Given the description of an element on the screen output the (x, y) to click on. 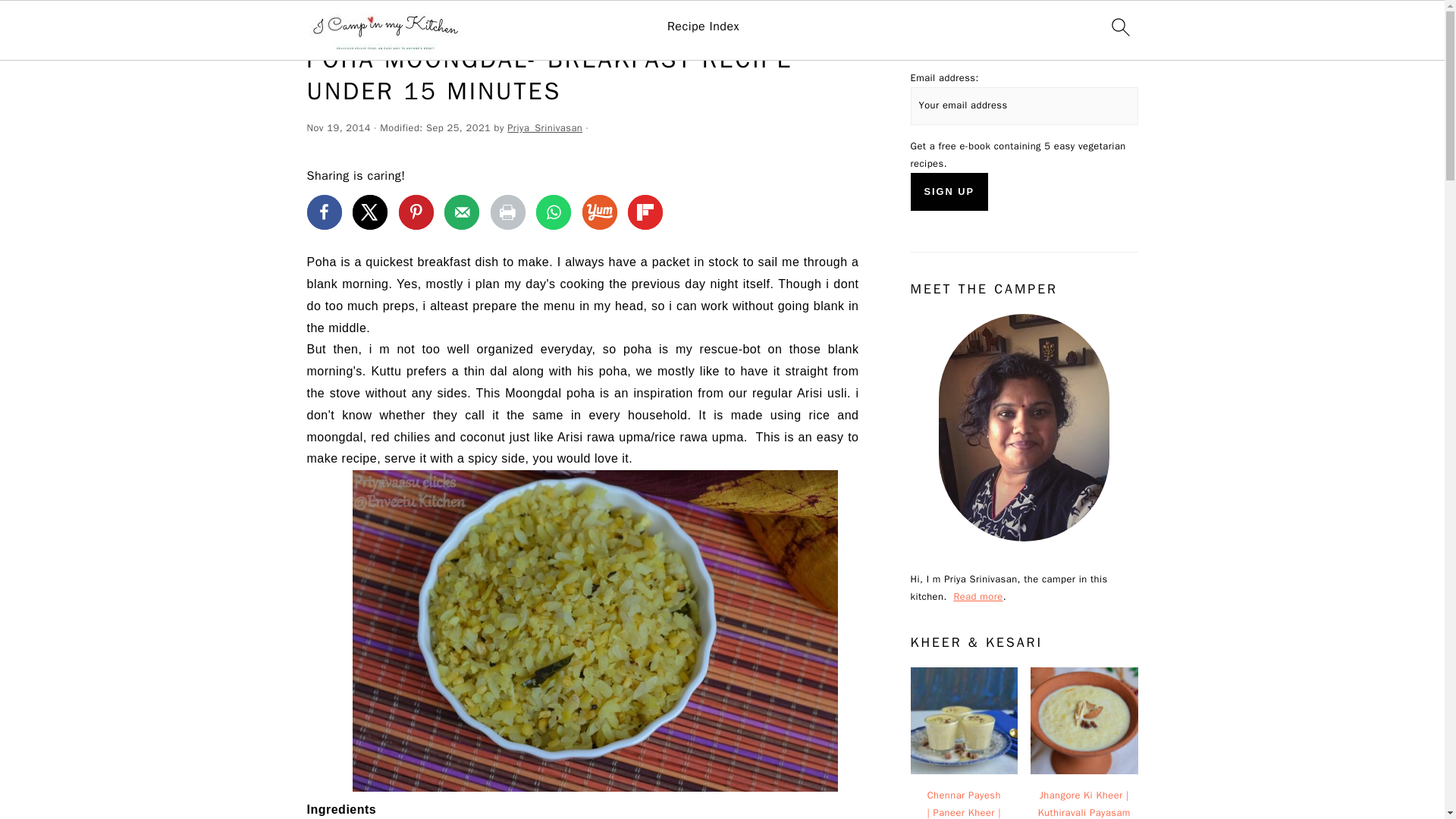
Share on Flipboard (644, 212)
Share on WhatsApp (552, 212)
Recipe Index (702, 26)
Share on Facebook (322, 212)
search icon (1119, 26)
Breakfast Recipes (385, 23)
Print this webpage (507, 212)
Send over email (461, 212)
Share on X (369, 212)
Sign up (949, 191)
Share on Yummly (599, 212)
Traditional Indian Breakfast Recipes (521, 23)
Home (319, 23)
Save to Pinterest (415, 212)
